Given the description of an element on the screen output the (x, y) to click on. 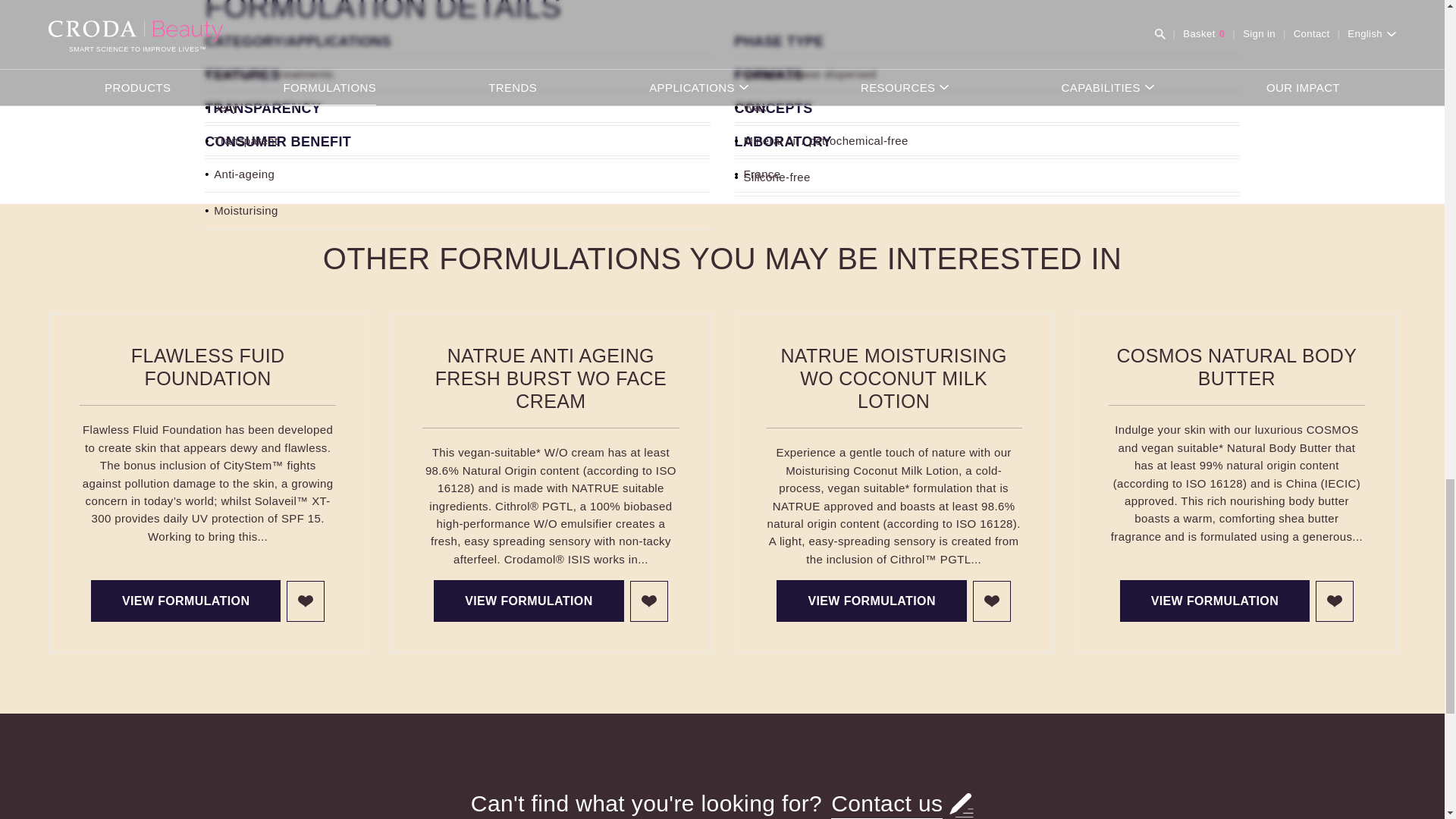
Login (649, 600)
Login (1335, 600)
Login (991, 600)
Login (305, 600)
